Given the description of an element on the screen output the (x, y) to click on. 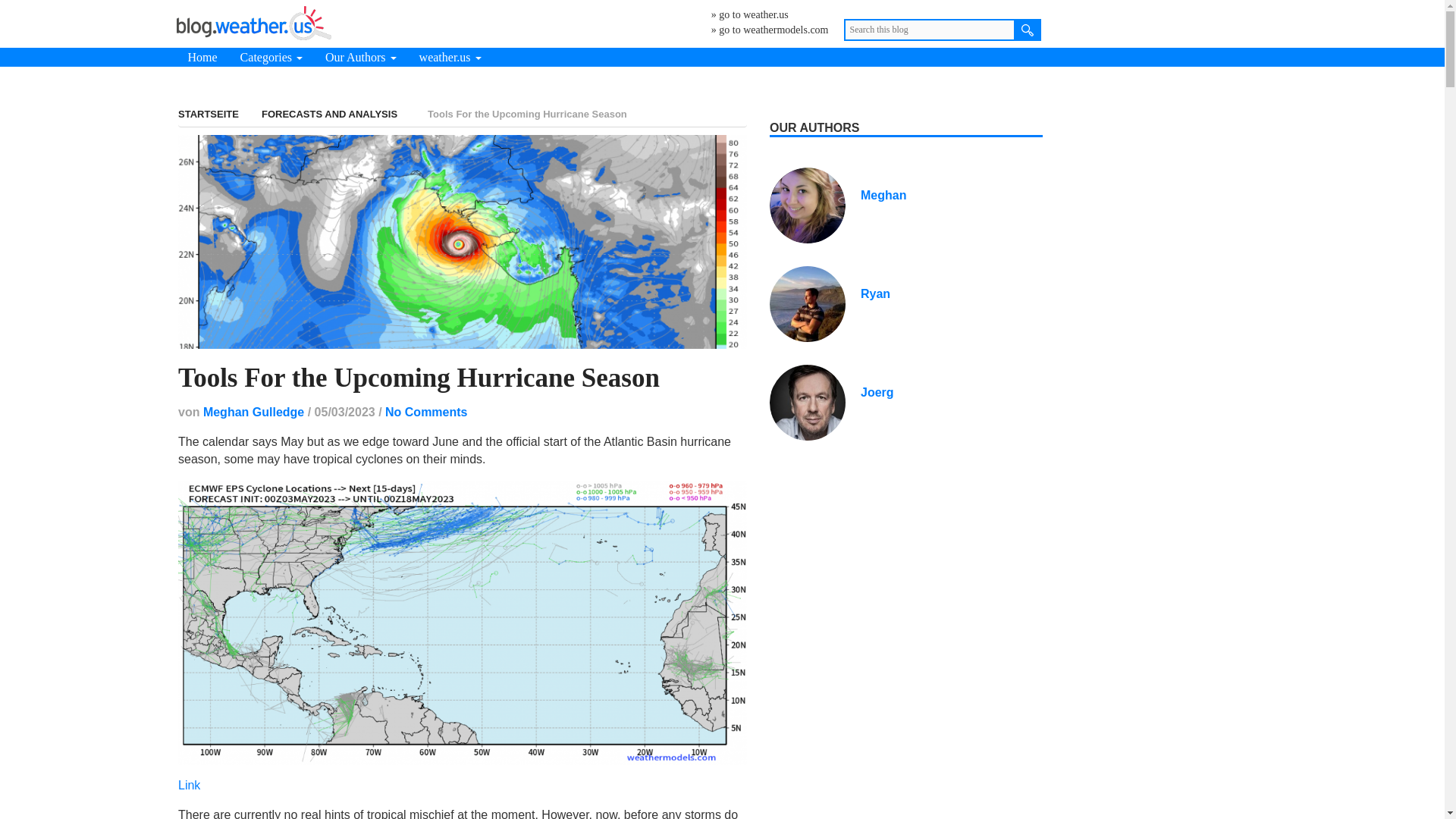
Meteorologist Ryan Maue (874, 293)
Tools For the Upcoming Hurricane Season (461, 241)
Meteorologist Meghan Gulledge (882, 195)
Home (202, 56)
Meteorologist Joerg (807, 400)
Tools For the Upcoming Hurricane Season (418, 378)
Link (188, 784)
FORECASTS AND ANALYSIS (329, 113)
Meghan Gulledge (253, 411)
Search (1027, 29)
Categories (271, 56)
STARTSEITE (207, 113)
Posts by Meghan Gulledge (253, 411)
Our Authors (360, 56)
No Comments (426, 411)
